Given the description of an element on the screen output the (x, y) to click on. 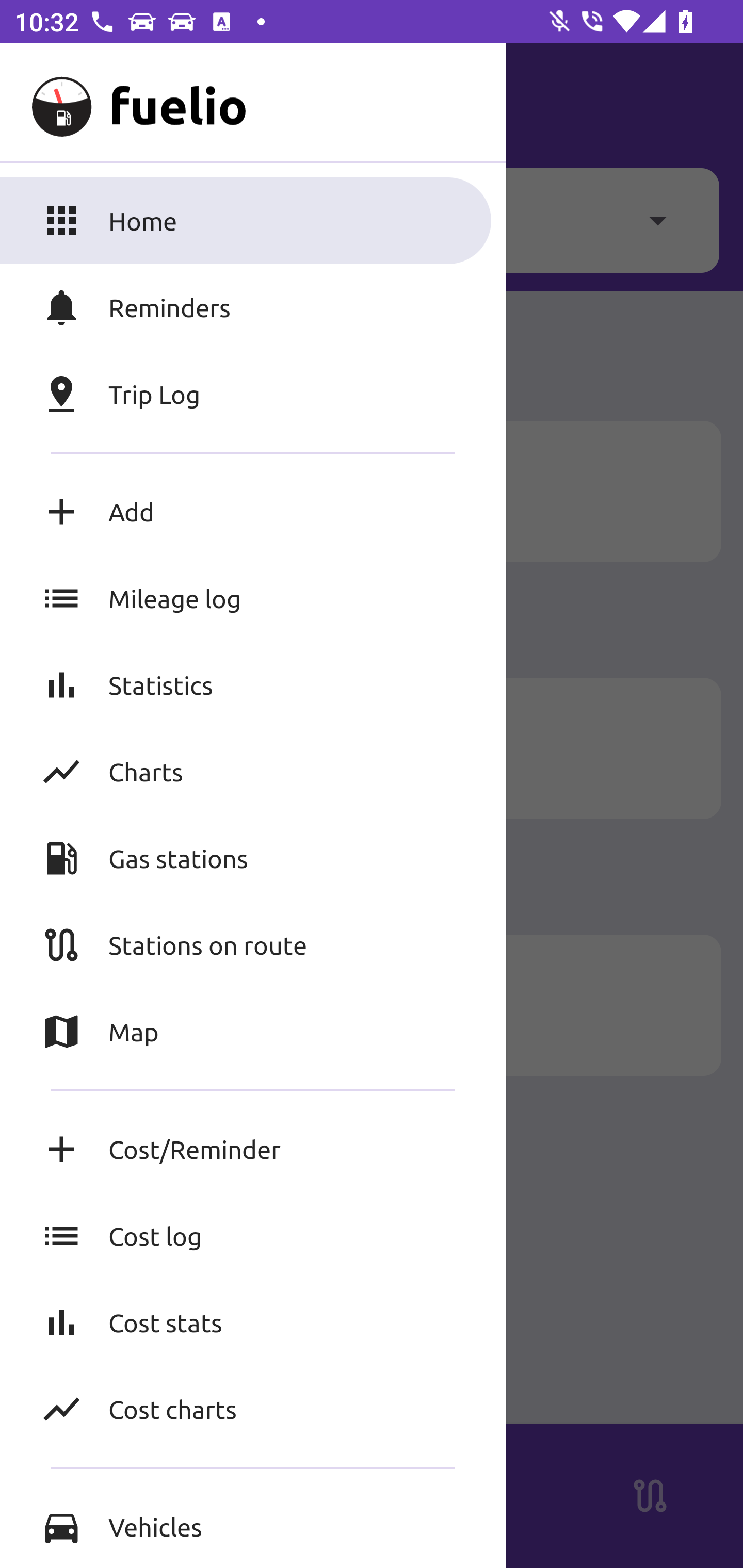
Fuelio (50, 101)
Home (252, 220)
Reminders (252, 307)
Trip Log (252, 394)
Add (252, 511)
Mileage log (252, 598)
Statistics (252, 684)
Charts (252, 771)
Gas stations (252, 858)
Stations on route (252, 944)
Icon (92, 1004)
Map (252, 1031)
Cost/Reminder (252, 1149)
Cost log (252, 1236)
Cost stats (252, 1322)
Cost charts (252, 1408)
Vehicles (252, 1525)
